Given the description of an element on the screen output the (x, y) to click on. 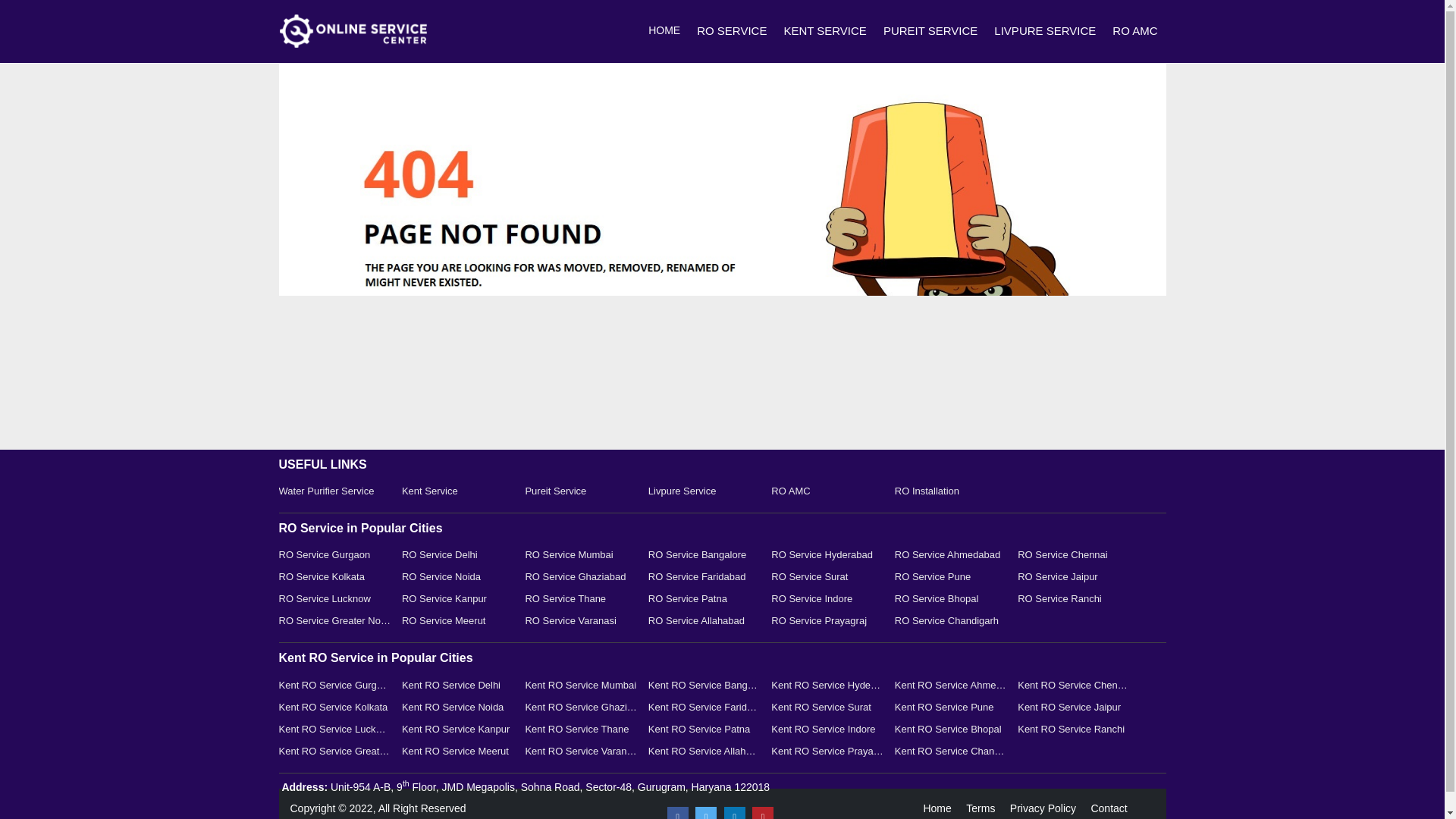
Kent Service (457, 491)
RO Service Hyderabad (827, 554)
LIVPURE SERVICE (1045, 30)
RO AMC (1134, 30)
RO AMC (827, 491)
RO SERVICE (731, 30)
RO Service Kolkata (335, 576)
RO Service Varanasi (580, 620)
RO Service Thane (580, 598)
Livpure Service (703, 491)
Pureit Service (580, 491)
RO Service Pune (951, 576)
RO Service Surat (827, 576)
RO Service Delhi (457, 554)
HOME (663, 30)
